Given the description of an element on the screen output the (x, y) to click on. 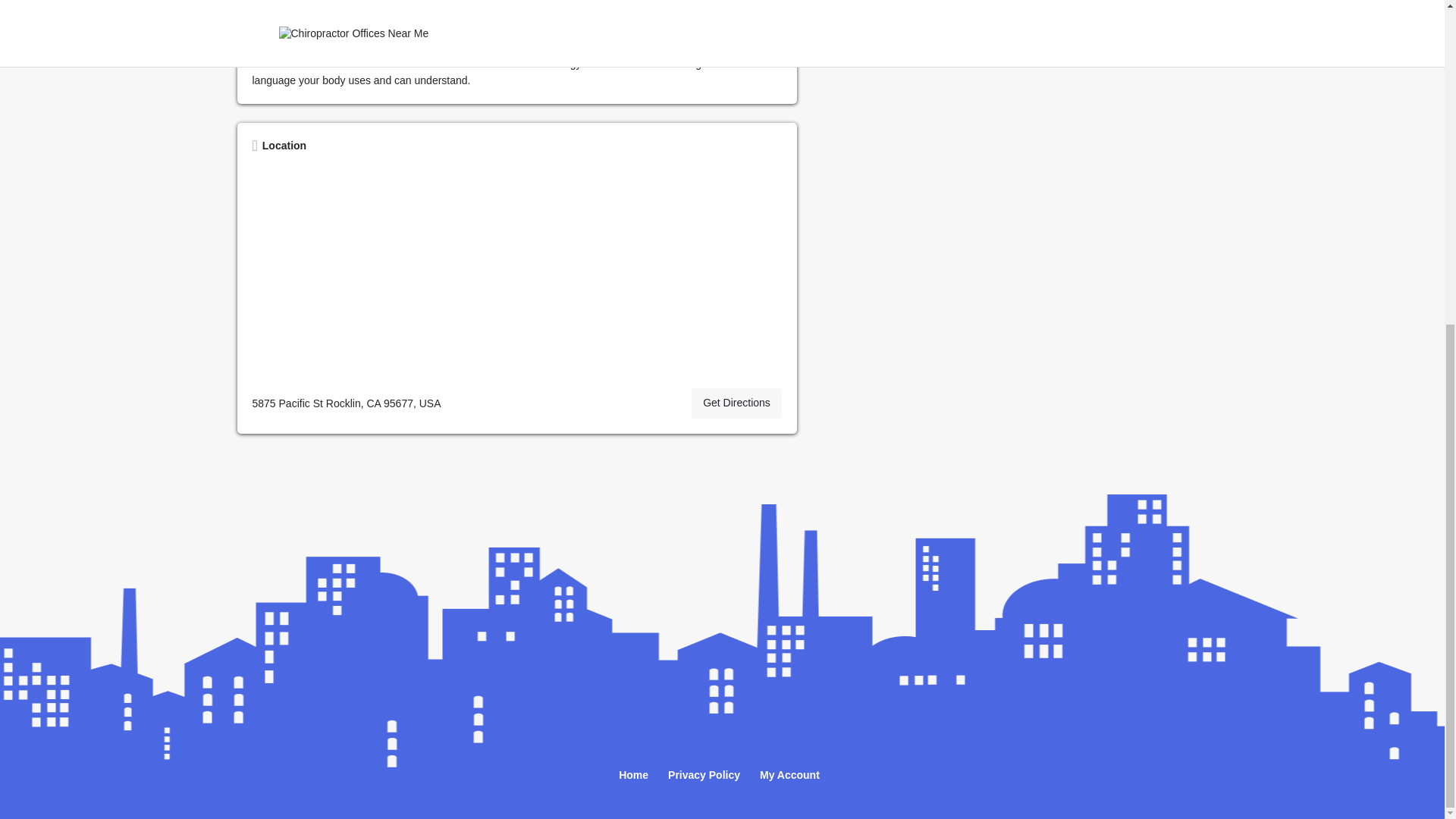
Home (633, 775)
My Account (789, 775)
Get Directions (736, 403)
Privacy Policy (703, 775)
